Given the description of an element on the screen output the (x, y) to click on. 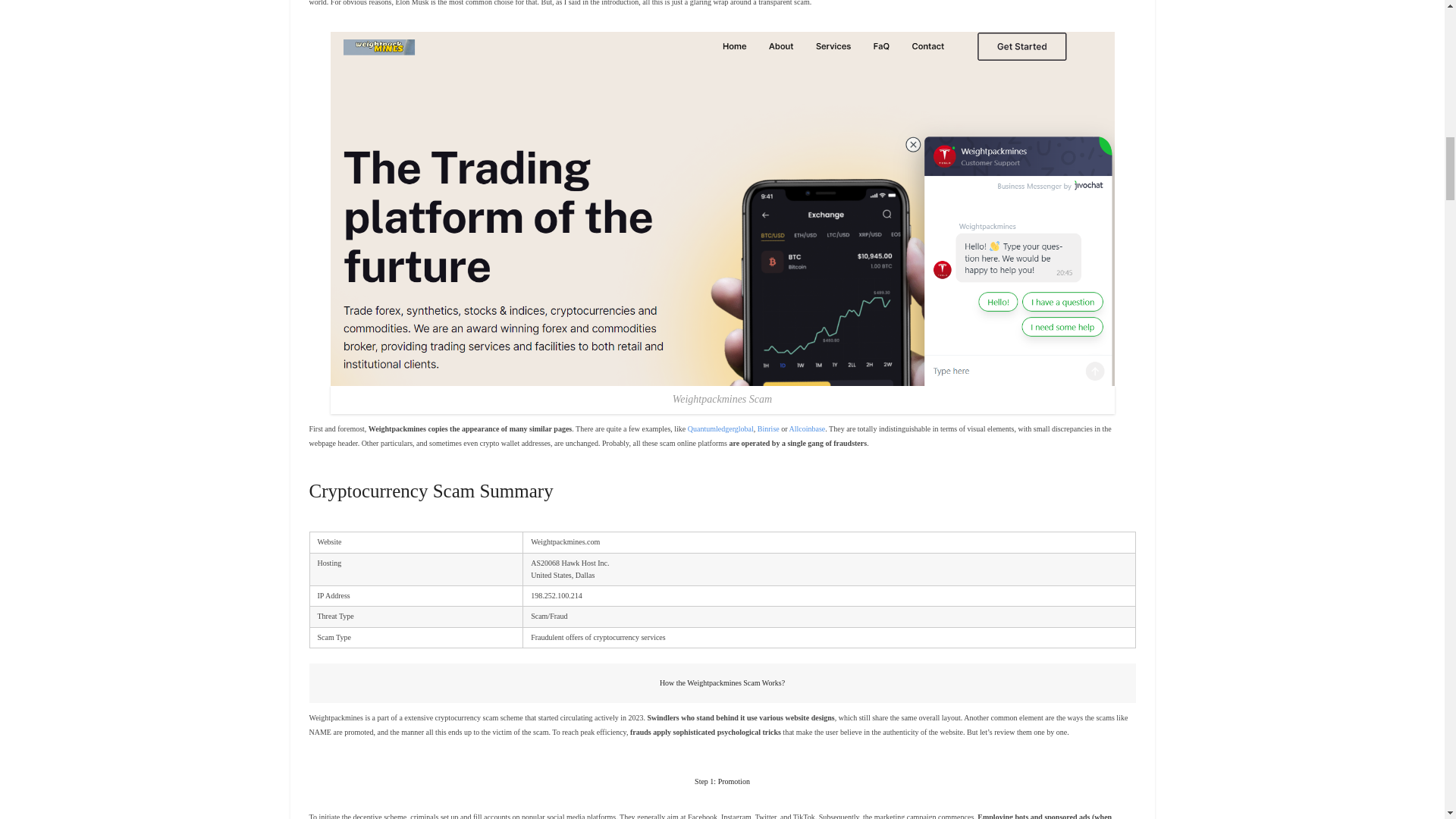
Binrise (767, 429)
Quantumledgerglobal (720, 429)
